Given the description of an element on the screen output the (x, y) to click on. 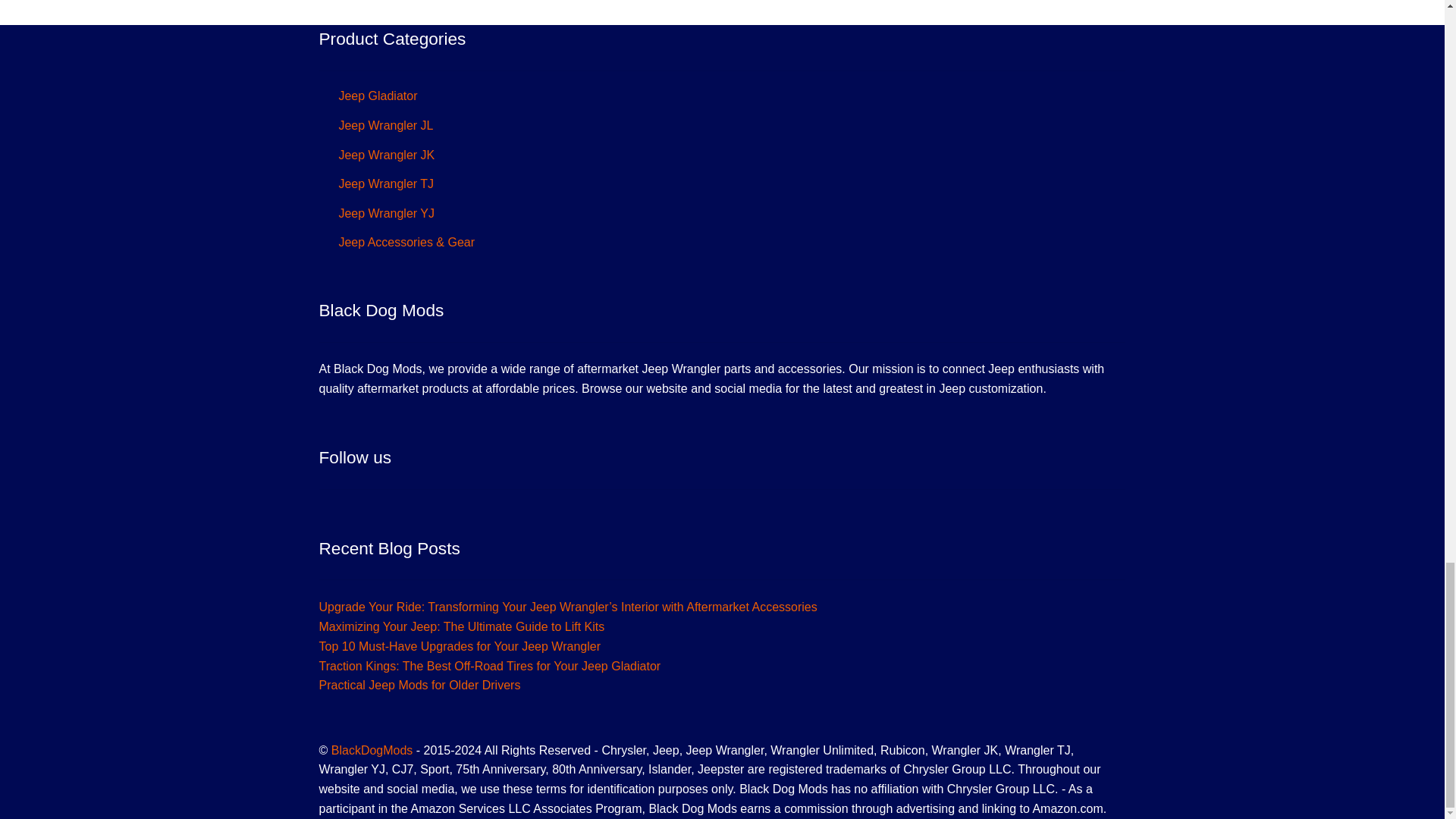
Jeep Wrangler JK (385, 154)
Jeep Gladiator (376, 95)
Jeep Wrangler JL (384, 124)
Jeep Wrangler YJ (385, 213)
Jeep Wrangler TJ (385, 183)
